Given the description of an element on the screen output the (x, y) to click on. 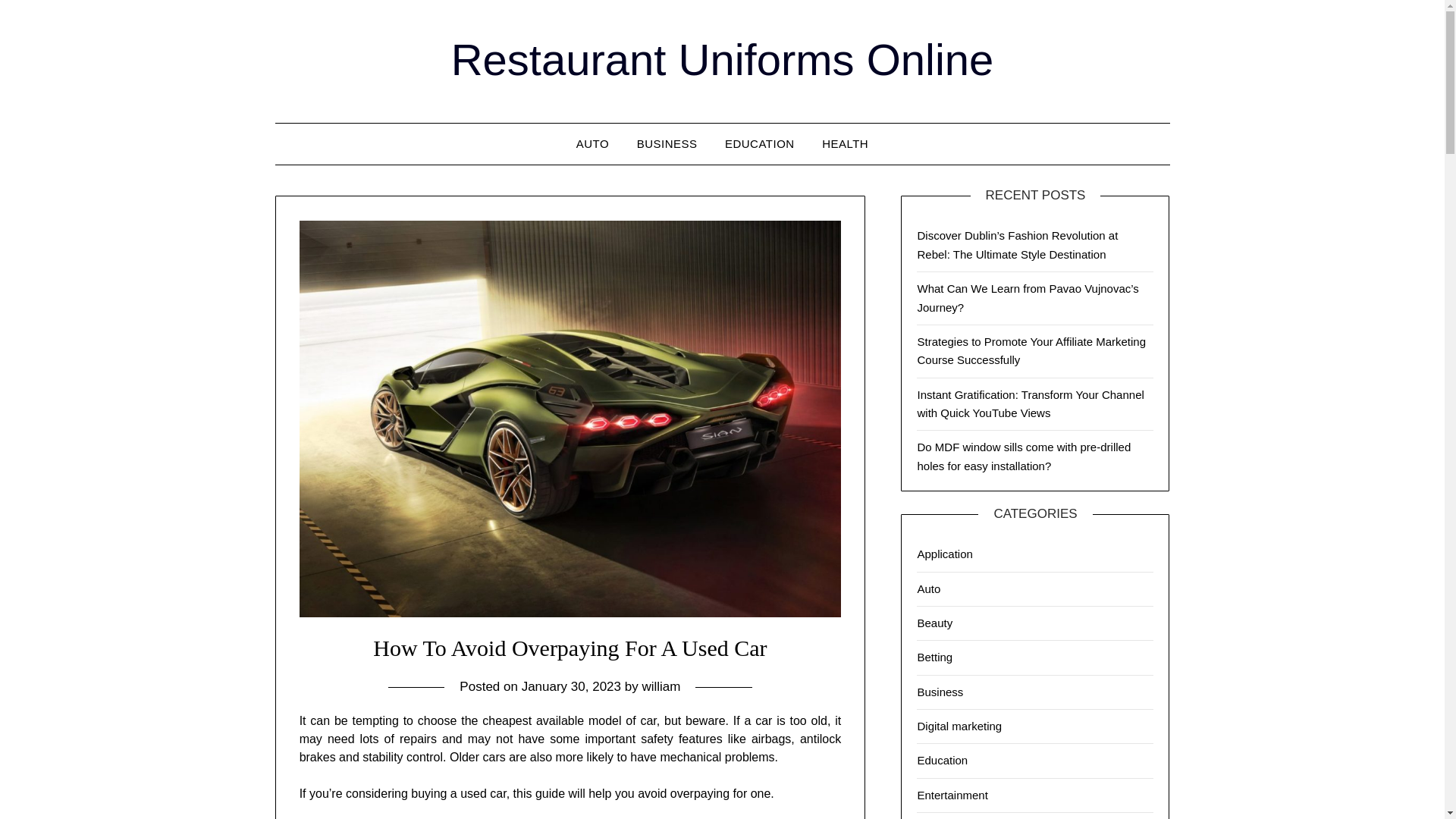
Restaurant Uniforms Online (722, 59)
HEALTH (844, 143)
Digital marketing (959, 725)
Business (939, 691)
Entertainment (952, 794)
BUSINESS (667, 143)
Application (944, 553)
AUTO (592, 143)
Betting (934, 656)
EDUCATION (759, 143)
Beauty (934, 622)
Auto (928, 588)
